Given the description of an element on the screen output the (x, y) to click on. 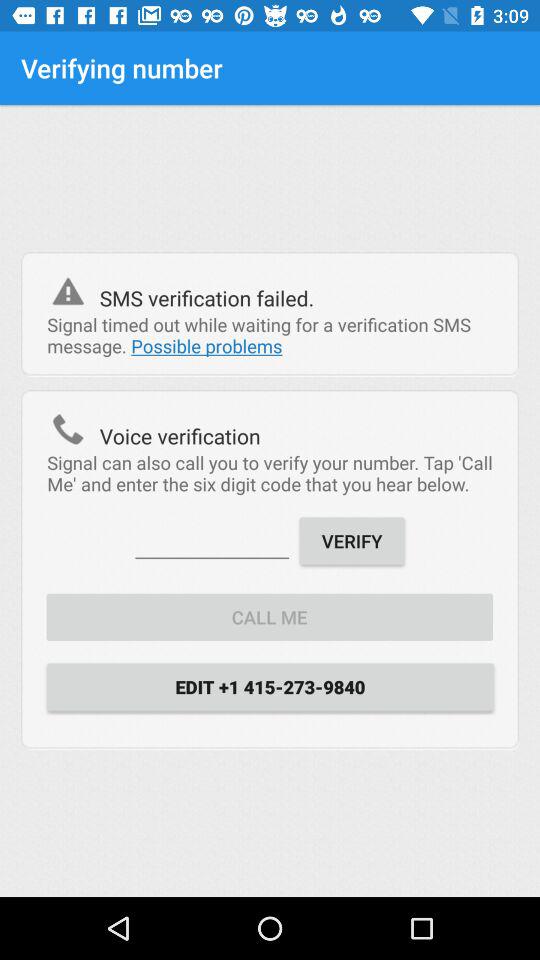
select icon below the call me (270, 686)
